Given the description of an element on the screen output the (x, y) to click on. 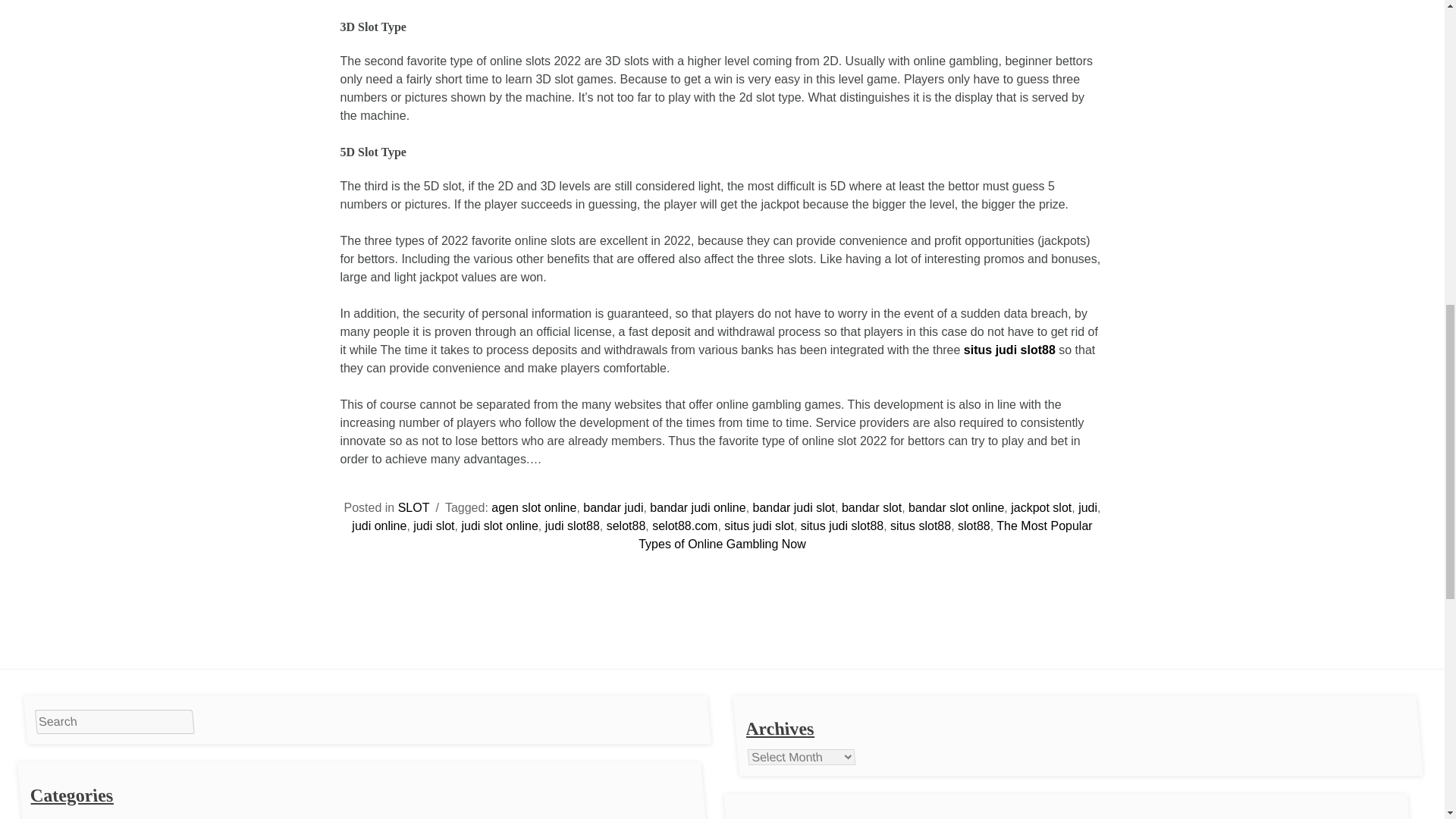
judi slot88 (571, 525)
agen slot online (534, 507)
situs judi slot88 (841, 525)
judi online (379, 525)
bandar judi (613, 507)
bandar slot online (956, 507)
bandar judi online (697, 507)
selot88 (626, 525)
bandar slot (871, 507)
situs slot88 (919, 525)
CASINO (89, 817)
judi (1087, 507)
bandar judi slot (793, 507)
The Most Popular Types of Online Gambling Now (865, 534)
Search for: (113, 721)
